Given the description of an element on the screen output the (x, y) to click on. 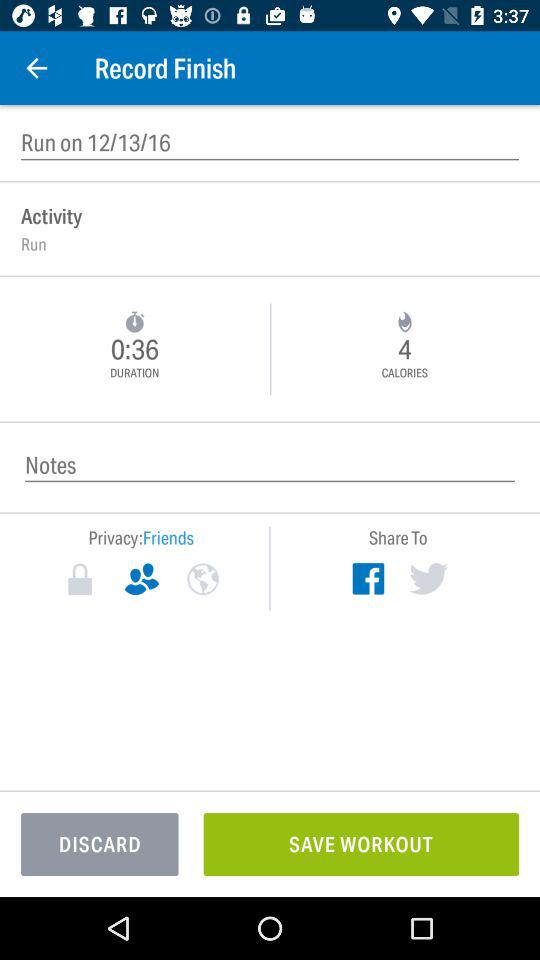
turn on icon below the privacy: icon (141, 579)
